Given the description of an element on the screen output the (x, y) to click on. 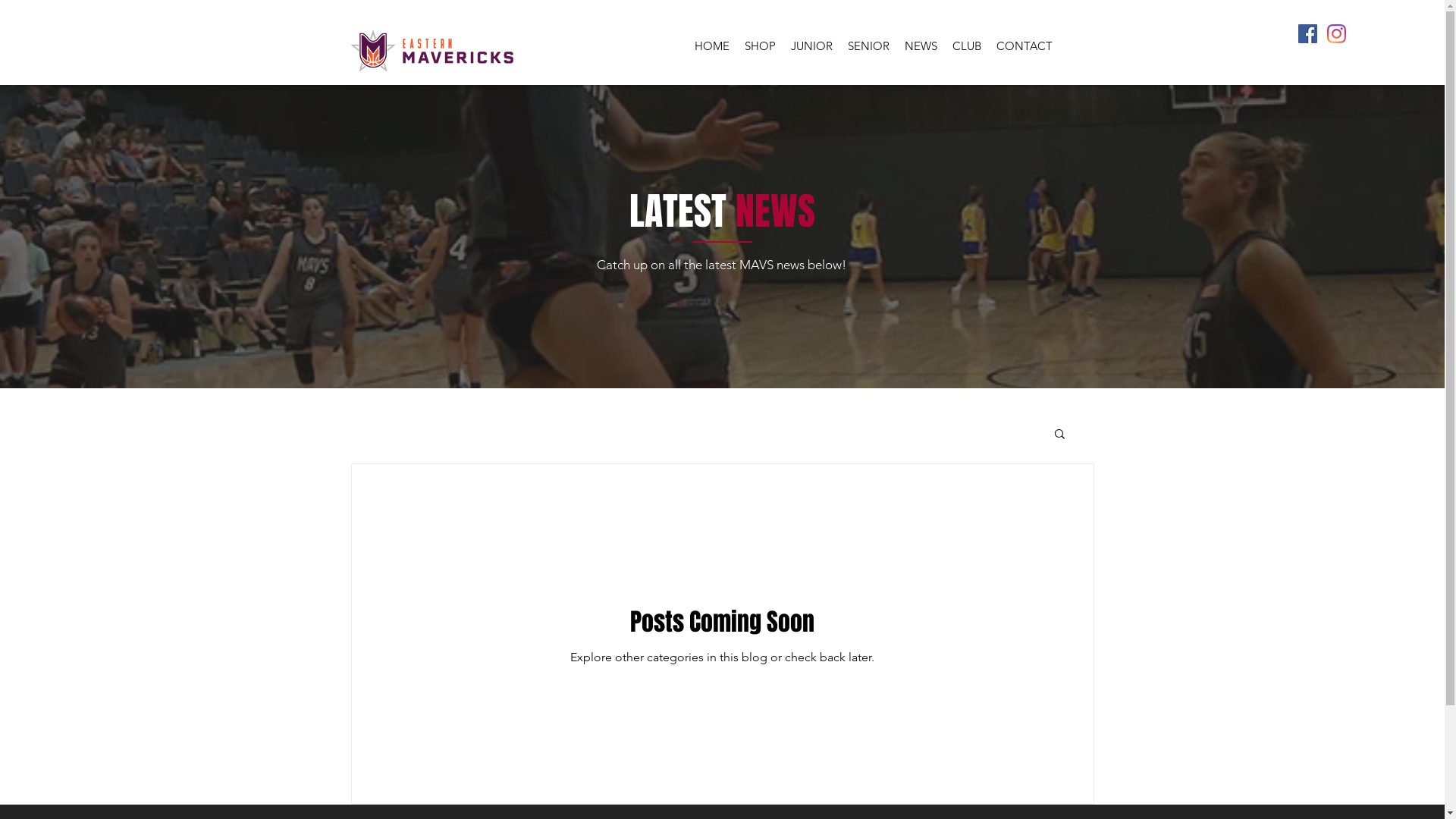
JUNIOR Element type: text (810, 45)
CONTACT Element type: text (1024, 45)
CLUB Element type: text (966, 45)
NEWS Element type: text (920, 45)
HOME Element type: text (712, 45)
SHOP Element type: text (760, 45)
SENIOR Element type: text (868, 45)
